Given the description of an element on the screen output the (x, y) to click on. 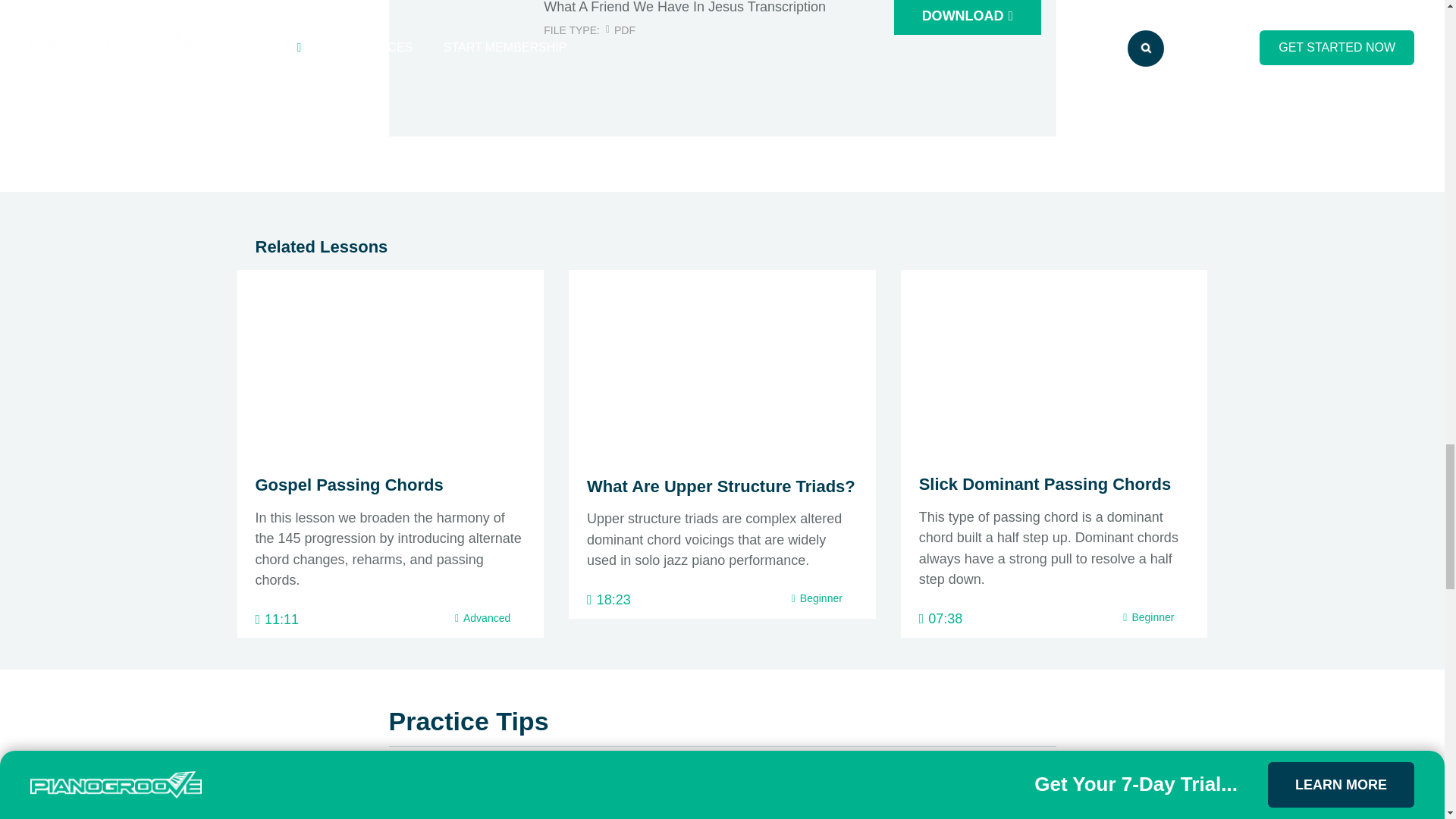
Gospel Passing Chords (348, 484)
What Are Upper Structure Triads? (721, 486)
DOWNLOAD (967, 17)
